Given the description of an element on the screen output the (x, y) to click on. 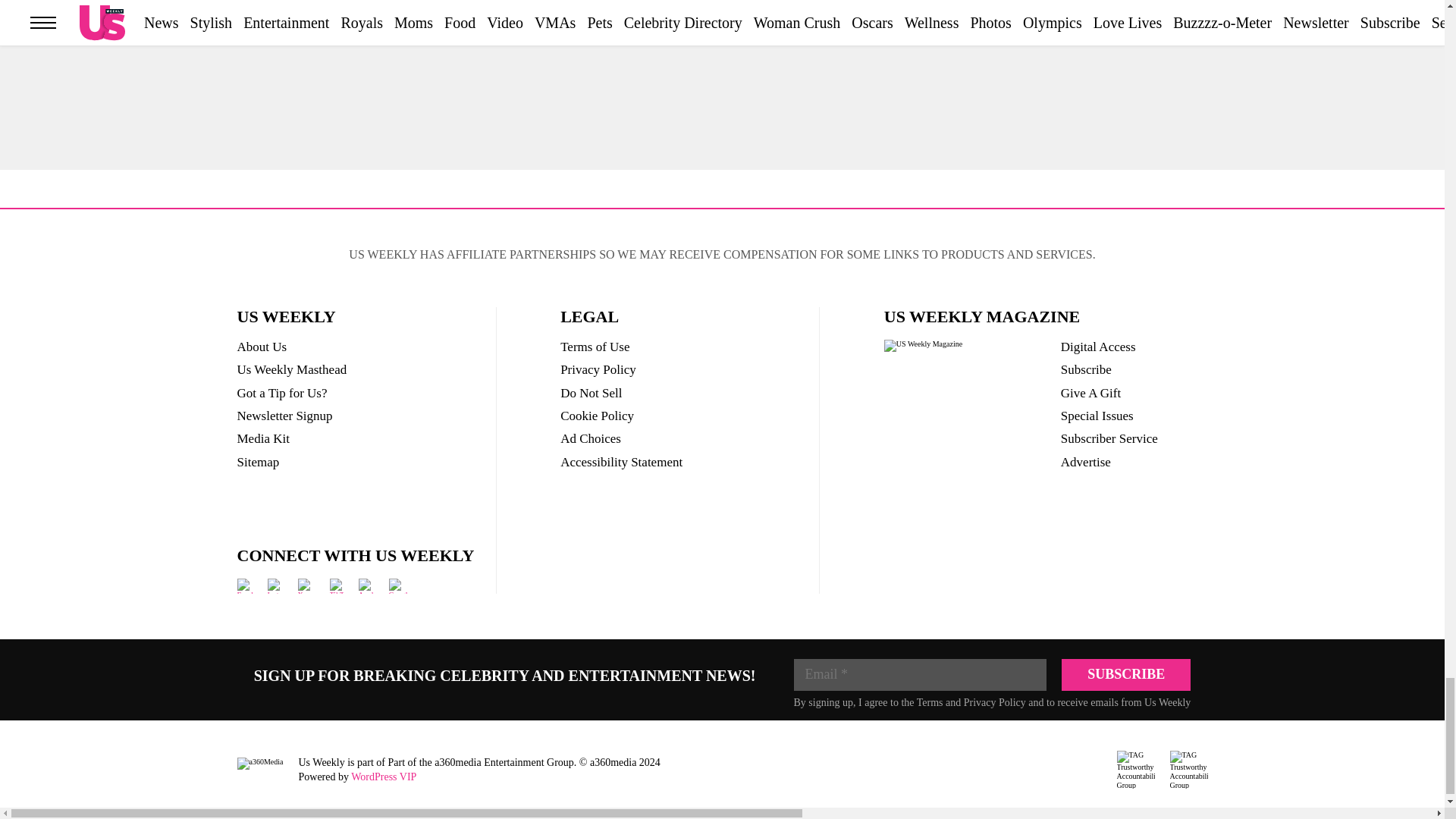
TAG Registered (1135, 769)
TAG Certified Against Fraud (1188, 769)
